Given the description of an element on the screen output the (x, y) to click on. 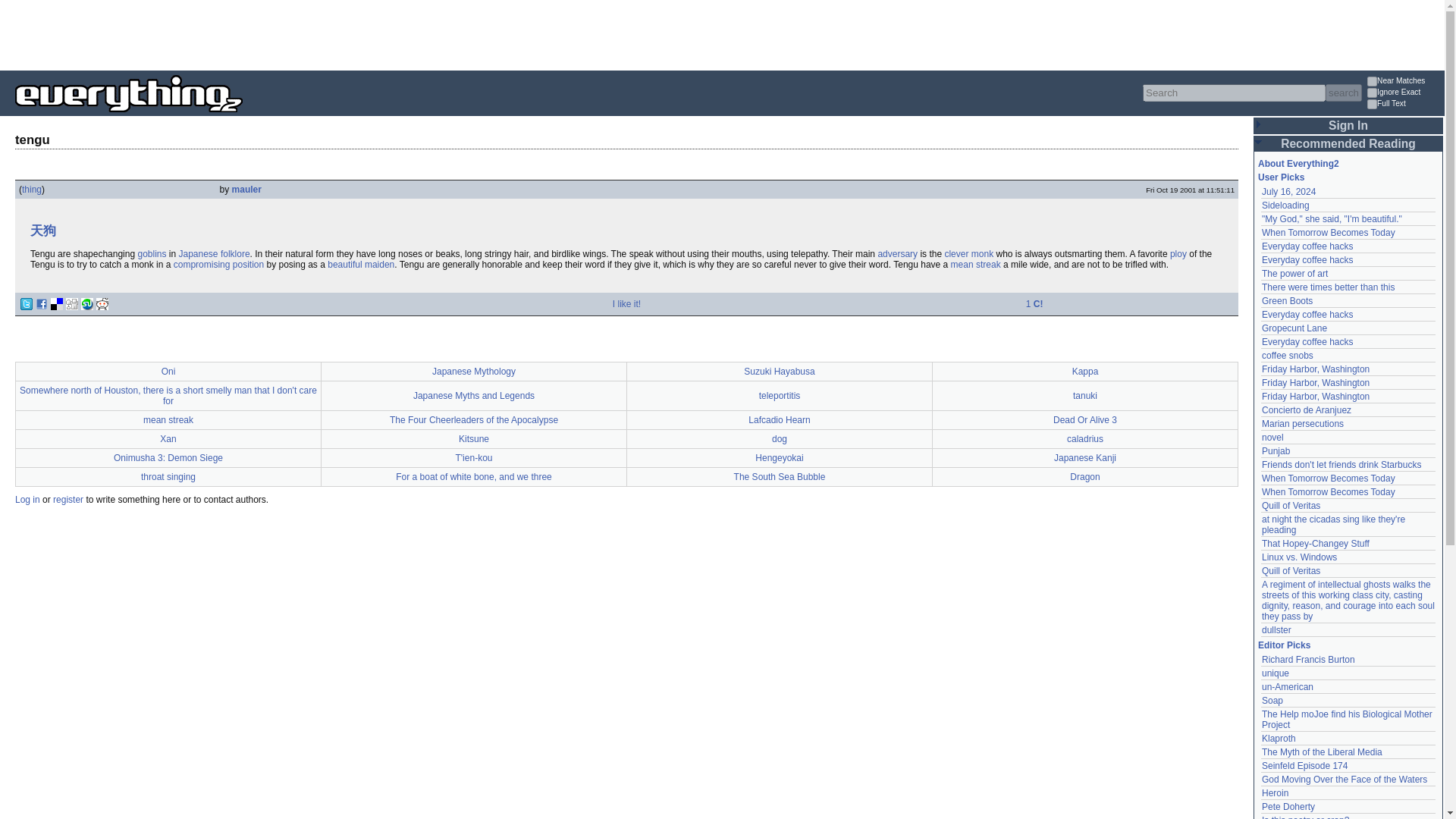
thing (31, 189)
Everything (242, 117)
compromising position (218, 264)
1 (1372, 81)
mean streak (975, 264)
Kappa (1085, 370)
The Four Cheerleaders of the Apocalypse (473, 419)
Kitsune (473, 439)
maiden (379, 264)
Japanese (198, 253)
1 (1372, 103)
search (1342, 92)
ploy (1178, 253)
Japanese Myths and Legends (473, 394)
beautiful (344, 264)
